Given the description of an element on the screen output the (x, y) to click on. 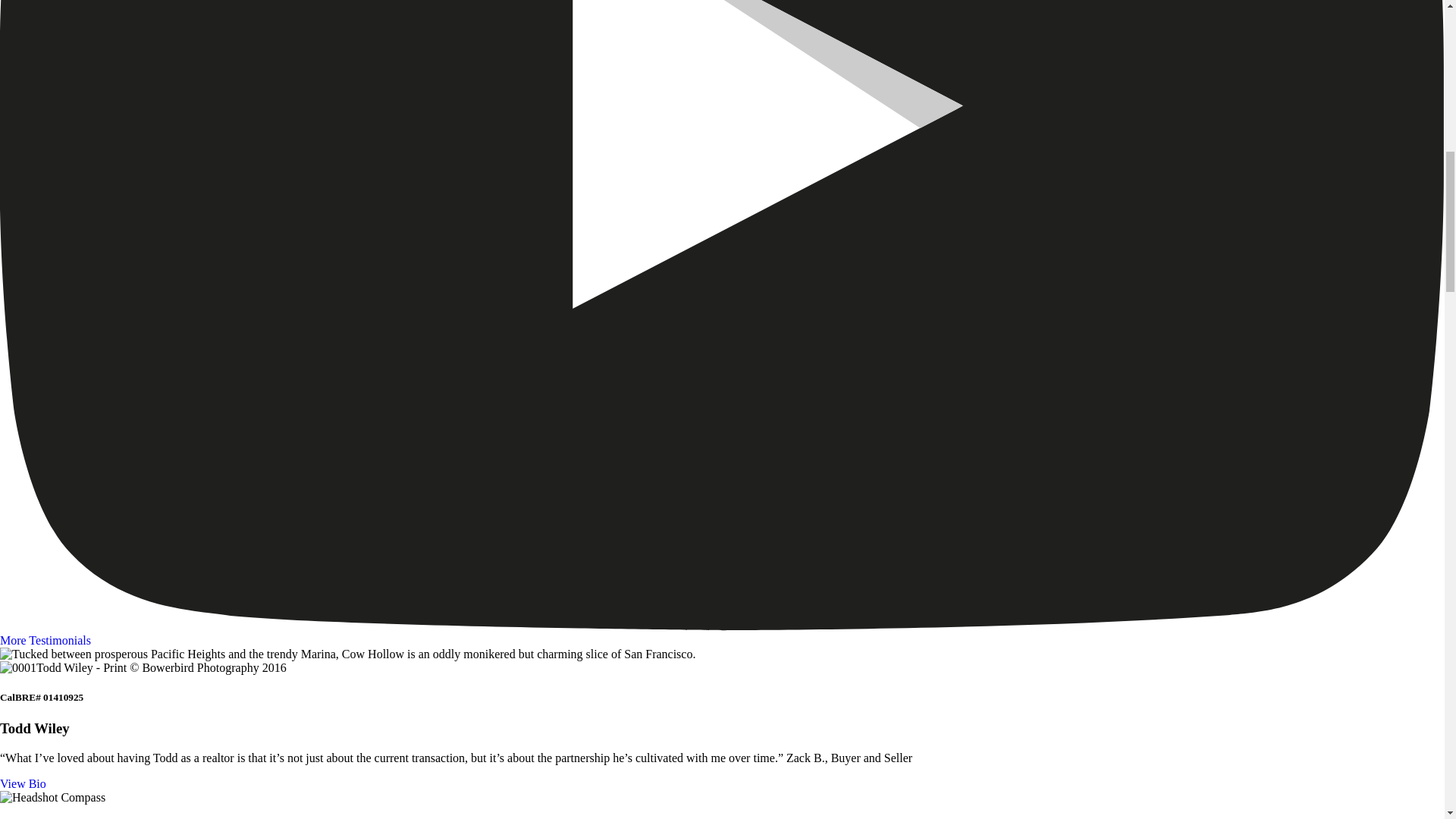
Headshot Compass (52, 797)
cow-hallow (347, 653)
View Bio (23, 783)
More Testimonials (45, 640)
